Given the description of an element on the screen output the (x, y) to click on. 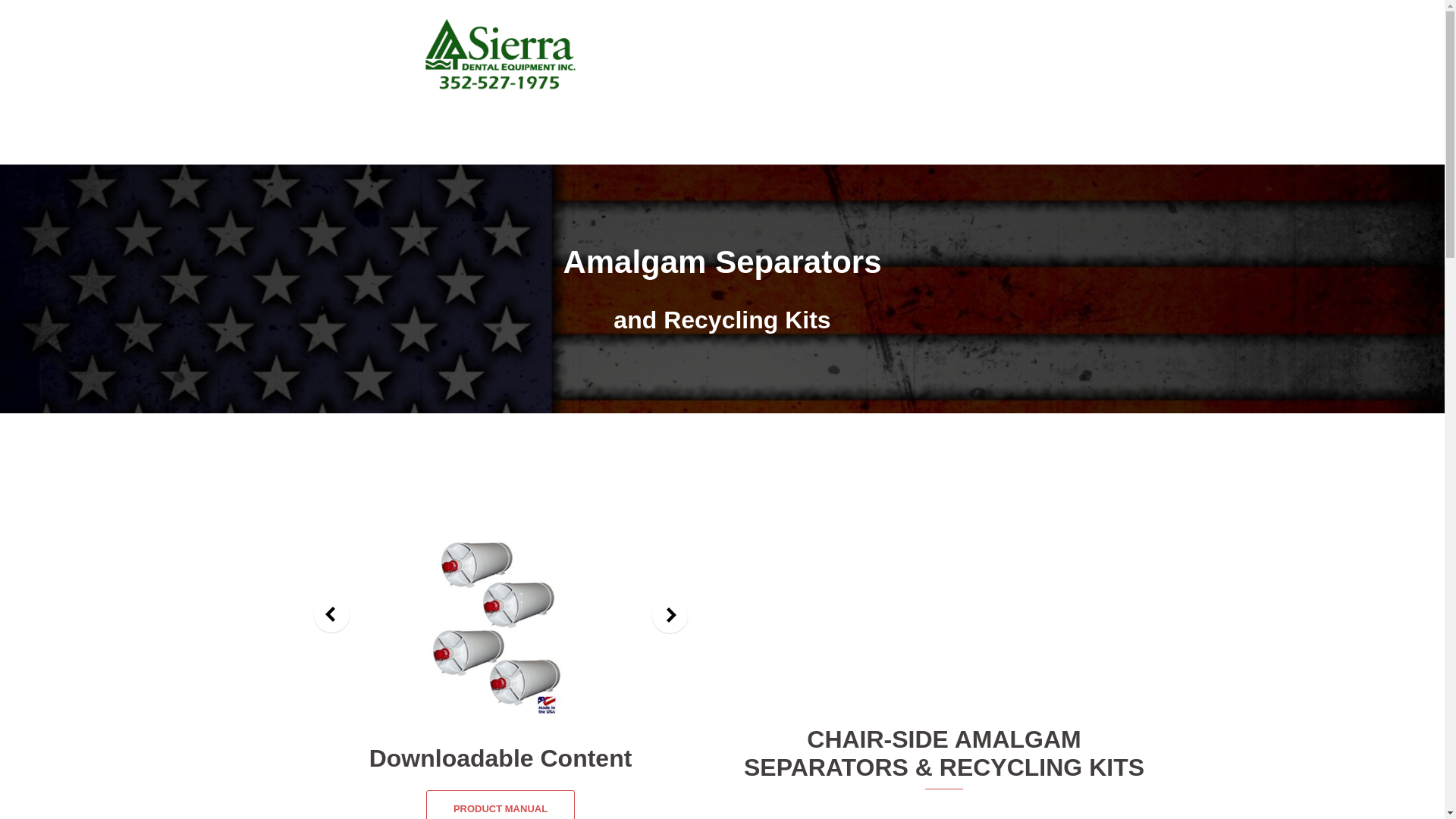
Blog (929, 73)
Home (758, 54)
Air Compressors (988, 54)
The Simple One (943, 606)
About Us (815, 54)
Sierra Dental Equipment, Inc. (499, 57)
Support (879, 73)
PRODUCT MANUAL (500, 804)
Dental Suction (893, 54)
